Given the description of an element on the screen output the (x, y) to click on. 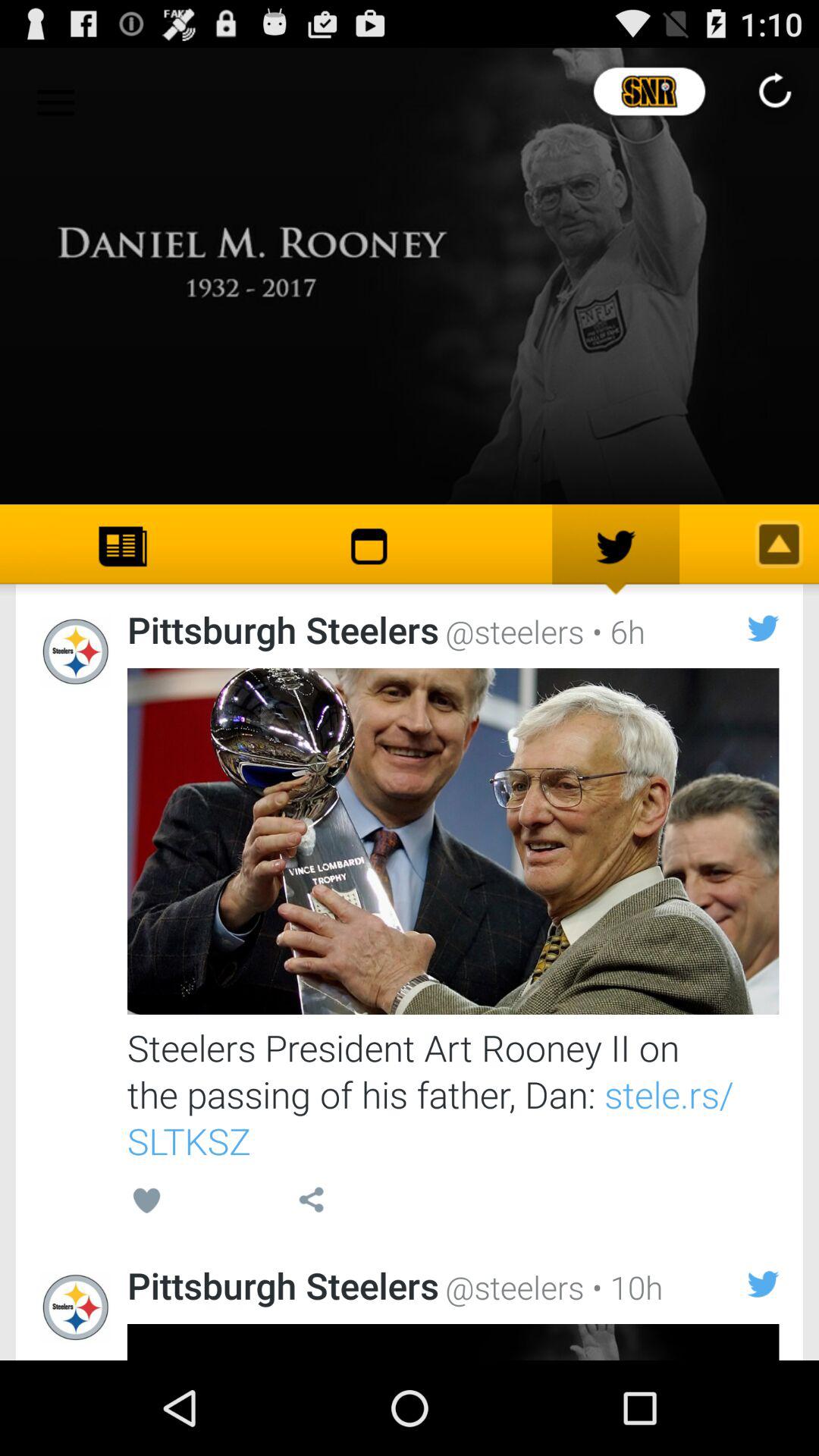
select item next to the @steelers item (623, 1286)
